Given the description of an element on the screen output the (x, y) to click on. 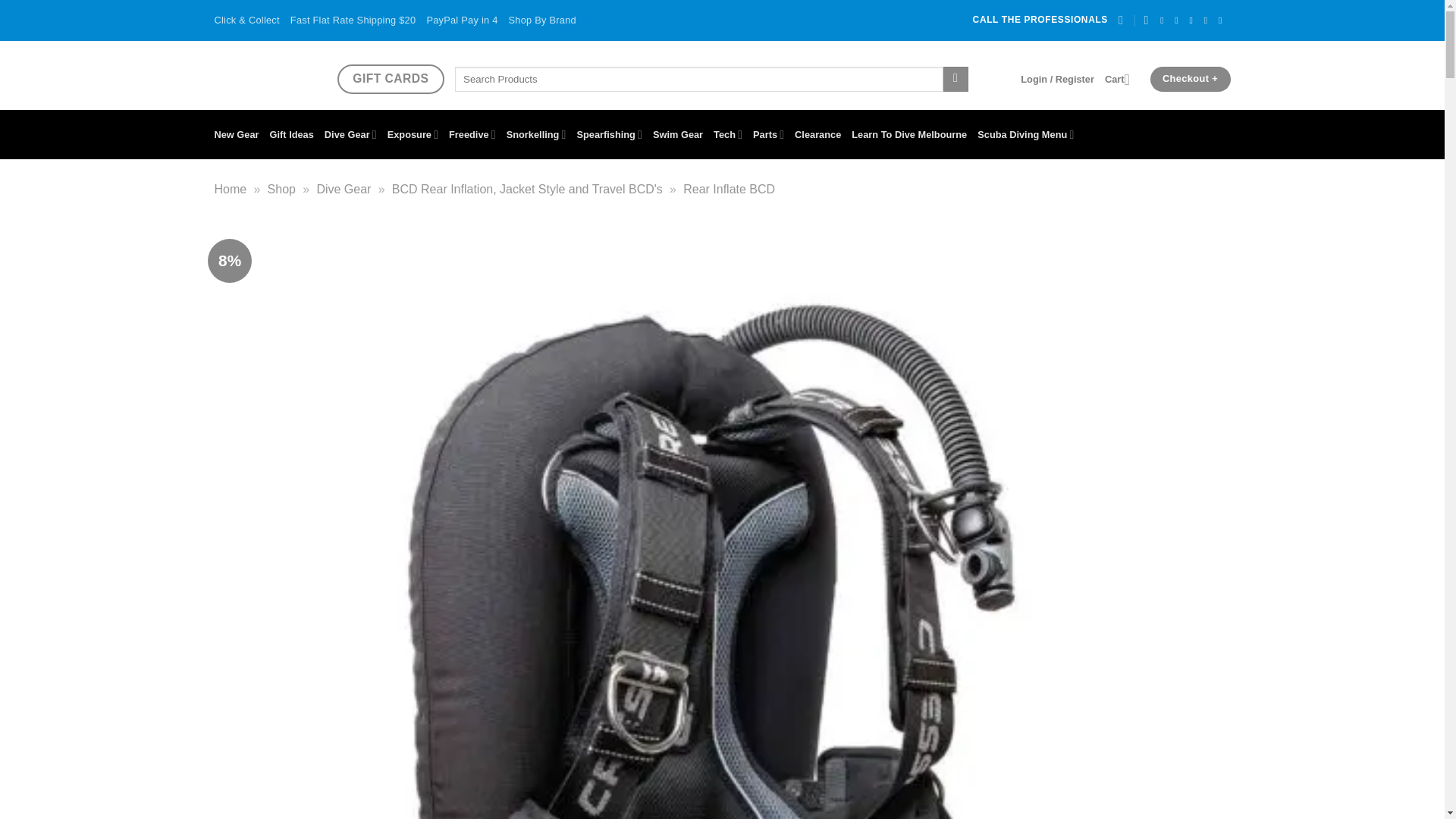
Dive Gear (350, 134)
Login (1057, 78)
Shop By Brand (542, 20)
GIFT CARDS (390, 79)
New Gear (236, 134)
Cart (1122, 78)
Gift Ideas (291, 134)
PayPal Pay in 4 (461, 20)
